Given the description of an element on the screen output the (x, y) to click on. 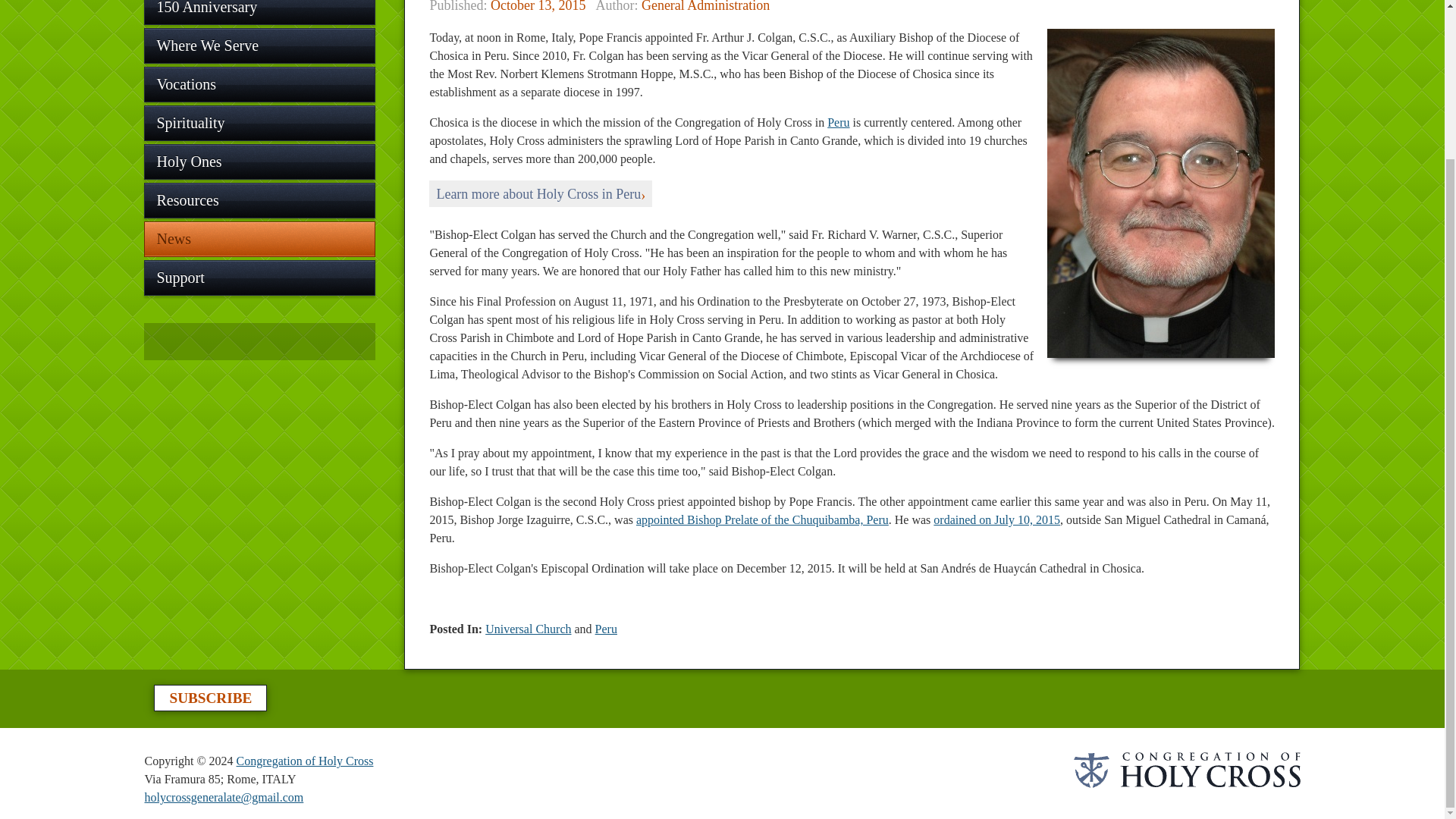
Universal Church (527, 628)
ordained on July 10, 2015 (996, 519)
Where We Serve (259, 45)
LinkedIn (260, 341)
Spirituality (259, 122)
News (259, 239)
Support (259, 277)
Holy Ones (259, 161)
appointed Bishop Prelate of the Chuquibamba, Peru (762, 519)
150 Anniversary (259, 12)
Vocations (259, 84)
Instagram (230, 341)
Peru (837, 122)
SUBSCRIBE (210, 697)
Facebook (169, 341)
